Given the description of an element on the screen output the (x, y) to click on. 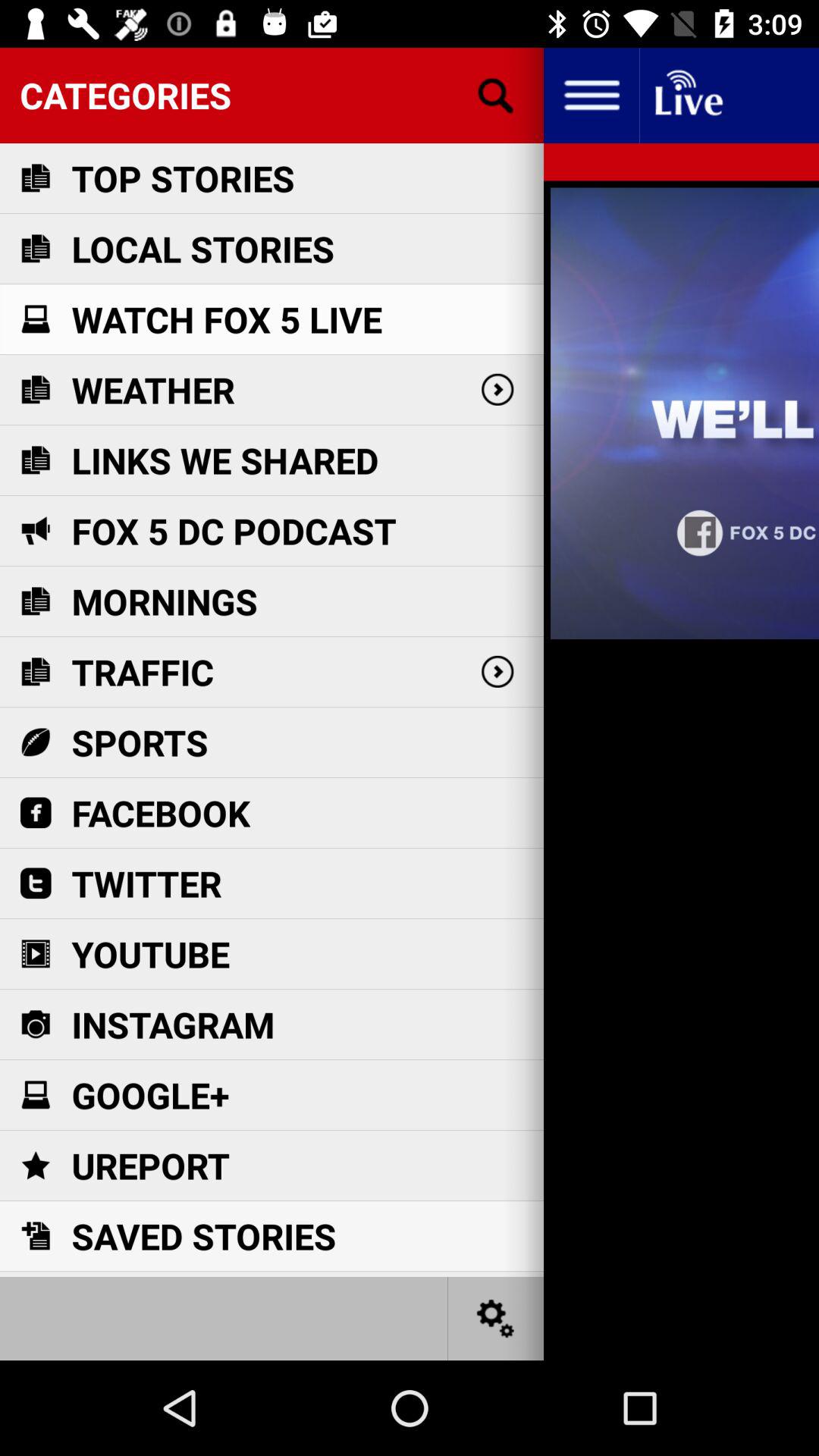
tap the item below google+ icon (150, 1165)
